Given the description of an element on the screen output the (x, y) to click on. 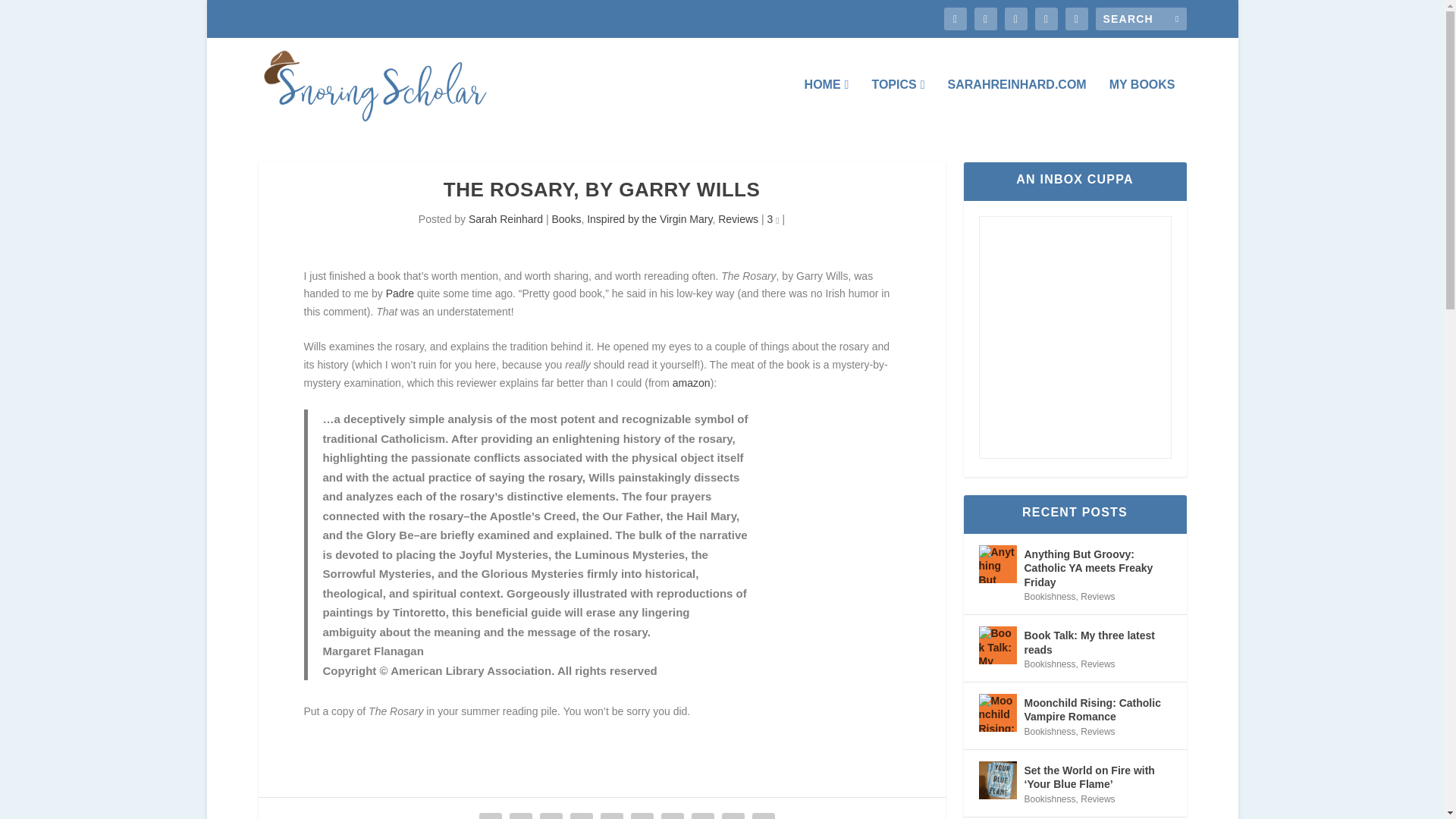
Posts by Sarah Reinhard (505, 218)
Share "The Rosary, by Garry Wills" via LinkedIn (642, 814)
Books (565, 218)
3 (772, 218)
Padre (399, 293)
Reviews (737, 218)
amazon (691, 382)
Sarah Reinhard (505, 218)
Share "The Rosary, by Garry Wills" via Stumbleupon (702, 814)
Share "The Rosary, by Garry Wills" via Email (732, 814)
Share "The Rosary, by Garry Wills" via Pinterest (611, 814)
Share "The Rosary, by Garry Wills" via Buffer (672, 814)
Share "The Rosary, by Garry Wills" via Facebook (490, 814)
Inspired by the Virgin Mary (648, 218)
Share "The Rosary, by Garry Wills" via Tumblr (581, 814)
